Given the description of an element on the screen output the (x, y) to click on. 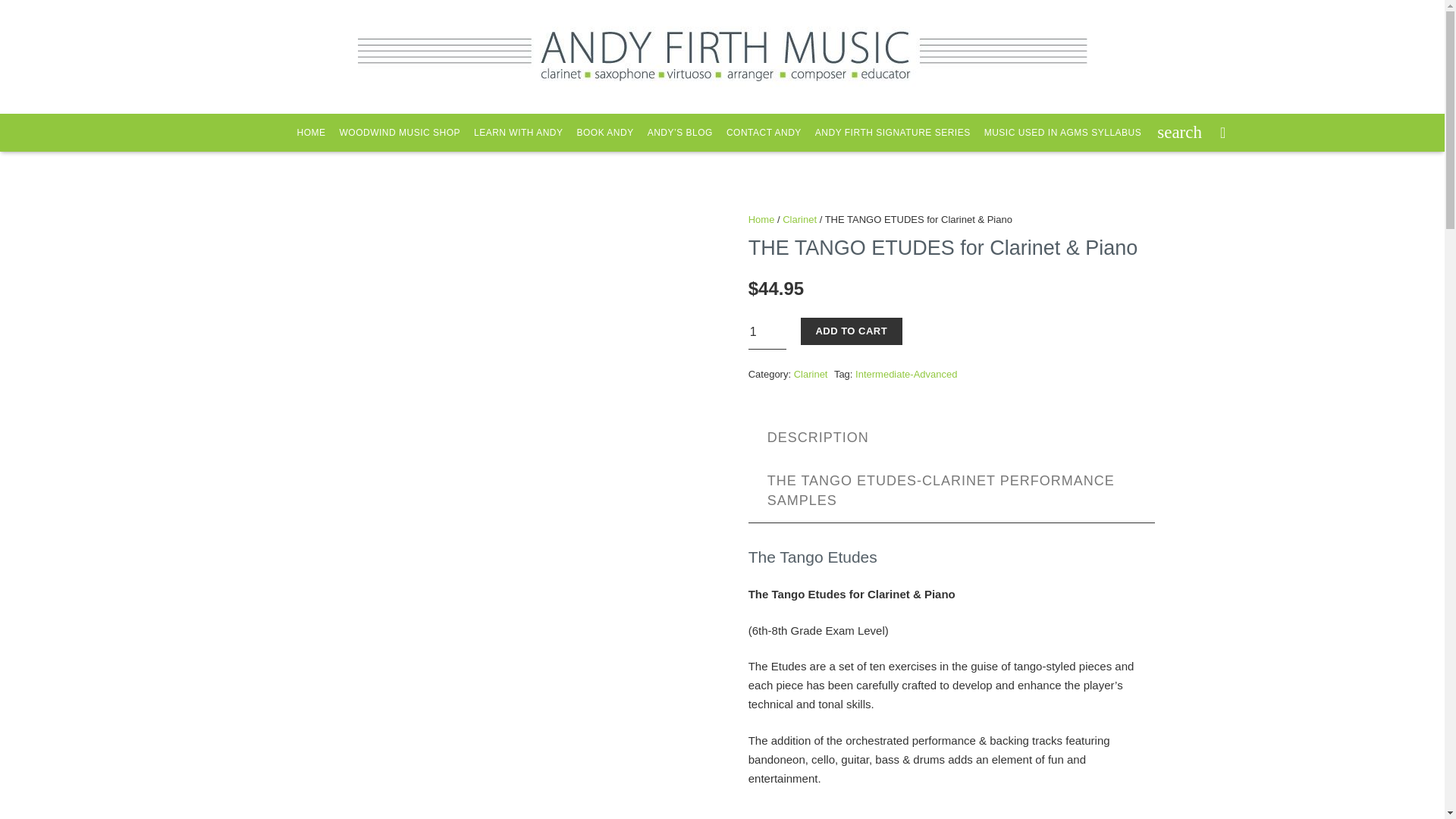
WOODWIND MUSIC SHOP (399, 132)
Home (761, 219)
ANDY FIRTH SIGNATURE SERIES (892, 132)
CONTACT ANDY (763, 132)
HOME (310, 132)
THE TANGO ETUDES-CLARINET PERFORMANCE SAMPLES (951, 490)
Intermediate-Advanced (906, 374)
DESCRIPTION (818, 437)
MUSIC USED IN AGMS SYLLABUS (1062, 132)
Clarinet (799, 219)
Clarinet (810, 374)
1 (767, 331)
BOOK ANDY (605, 132)
Tango (770, 818)
LEARN WITH ANDY (518, 132)
